Given the description of an element on the screen output the (x, y) to click on. 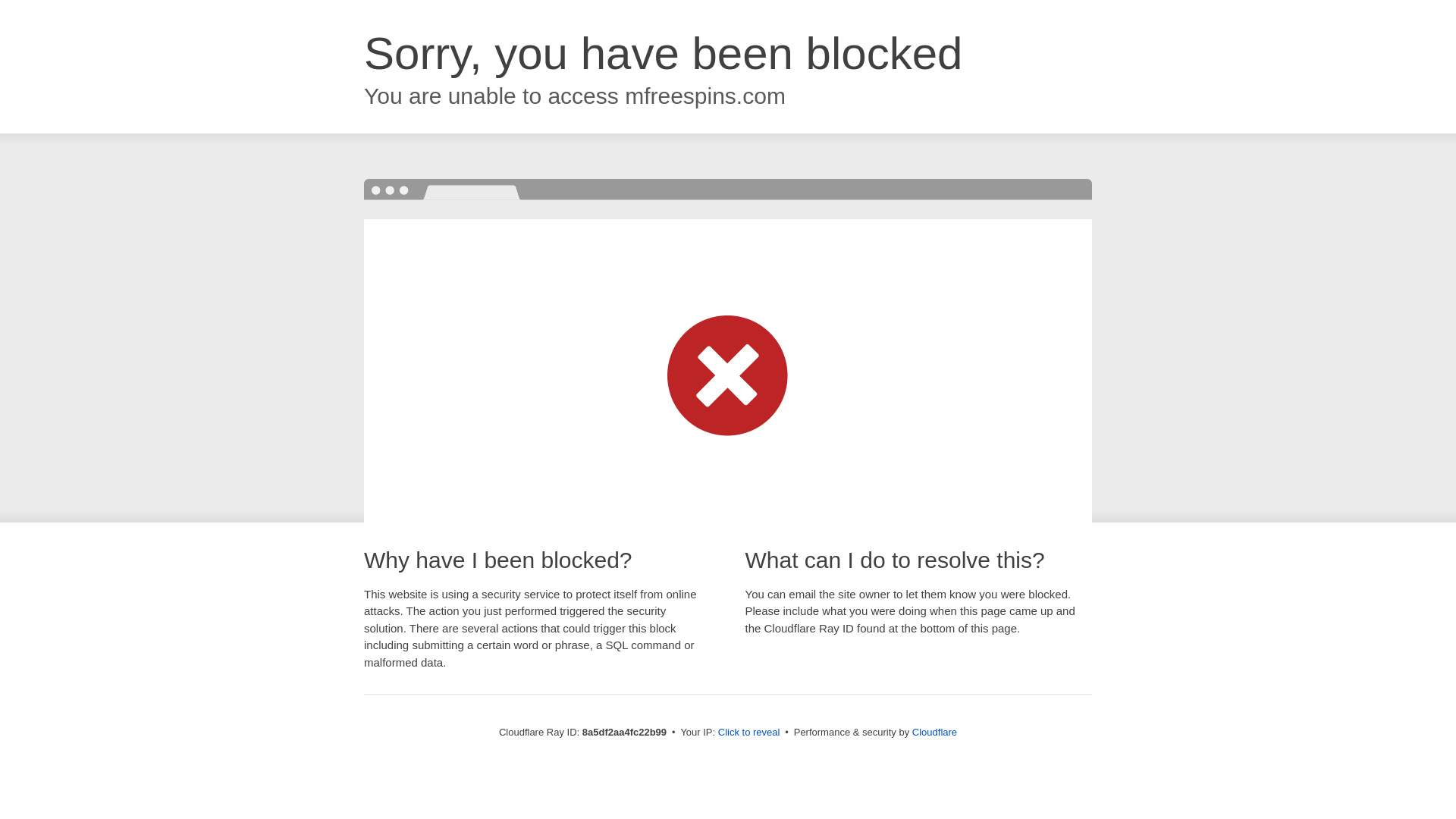
Cloudflare (934, 731)
Click to reveal (748, 732)
